Given the description of an element on the screen output the (x, y) to click on. 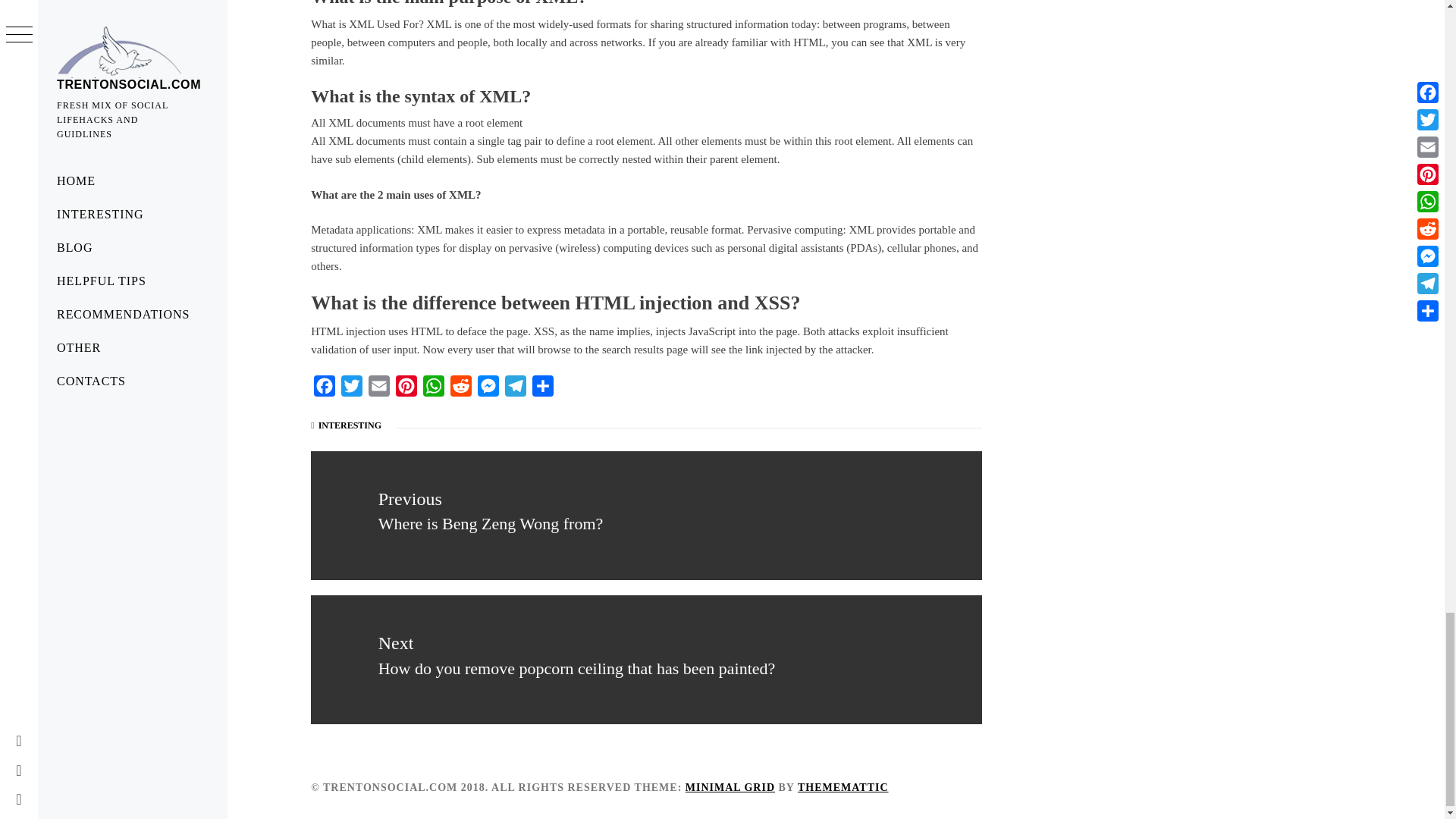
Twitter (351, 389)
Facebook (324, 389)
Facebook (324, 389)
Email (379, 389)
Twitter (351, 389)
